Given the description of an element on the screen output the (x, y) to click on. 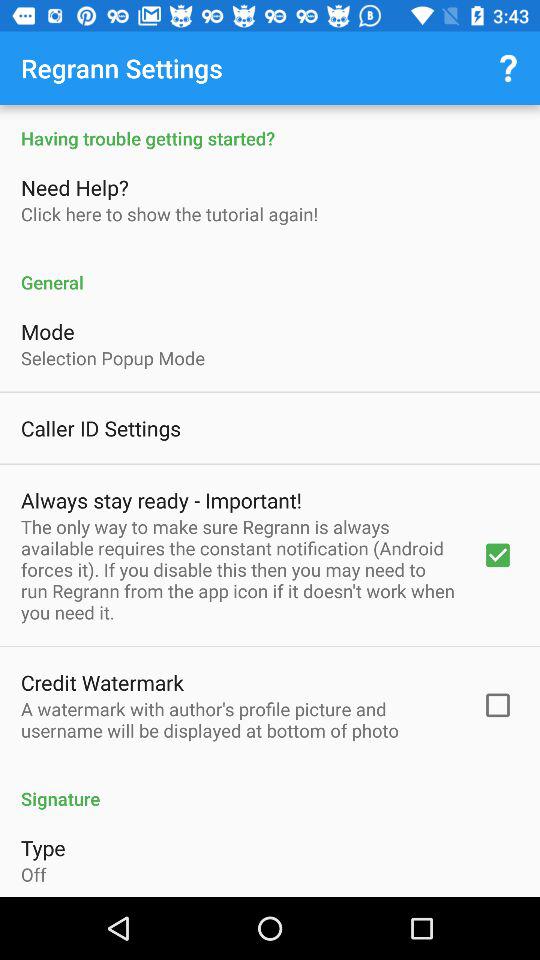
choose the icon above signature item (238, 719)
